Given the description of an element on the screen output the (x, y) to click on. 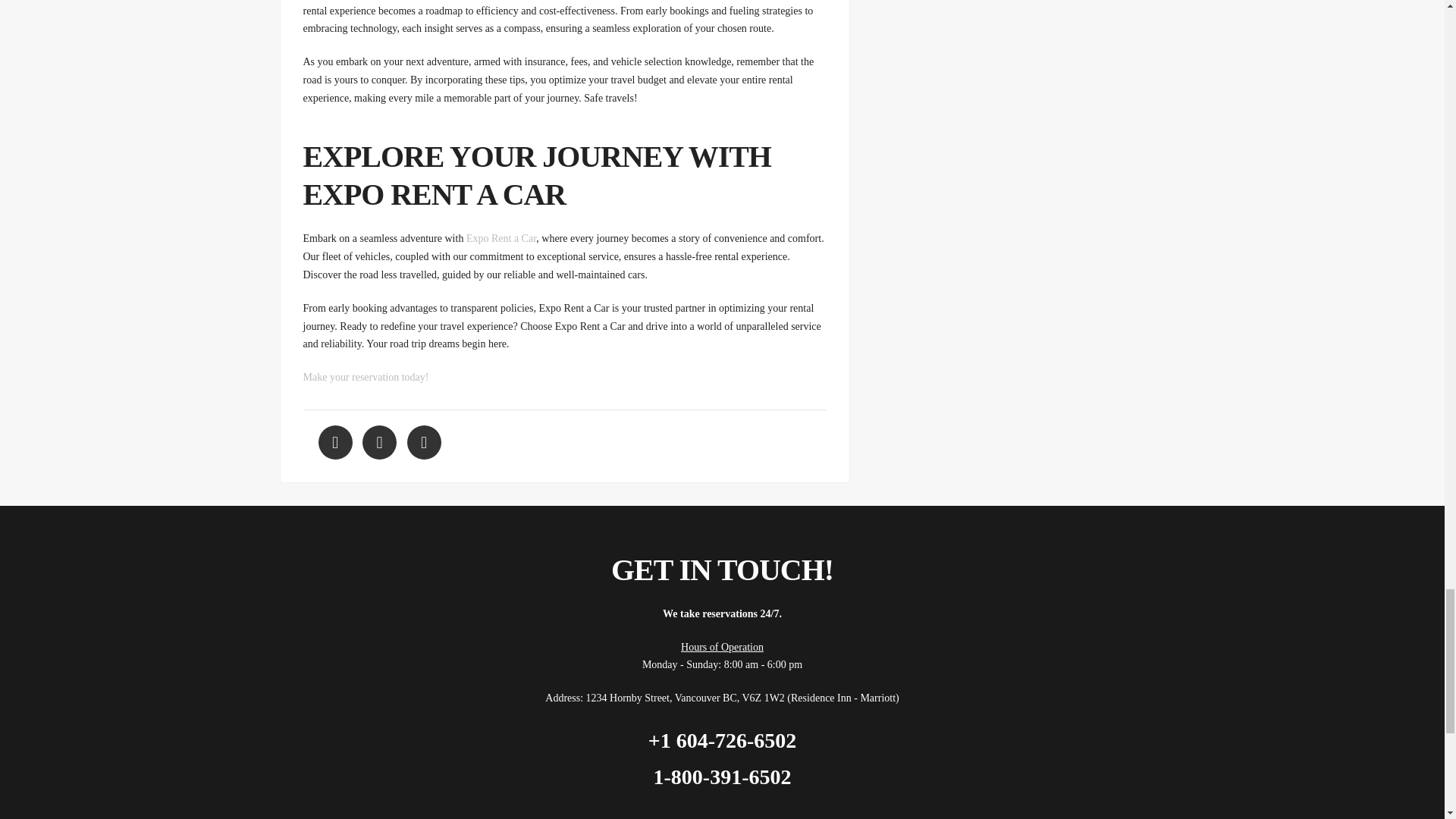
Expo Rent a Car (500, 238)
Make your reservation today! (365, 377)
